Given the description of an element on the screen output the (x, y) to click on. 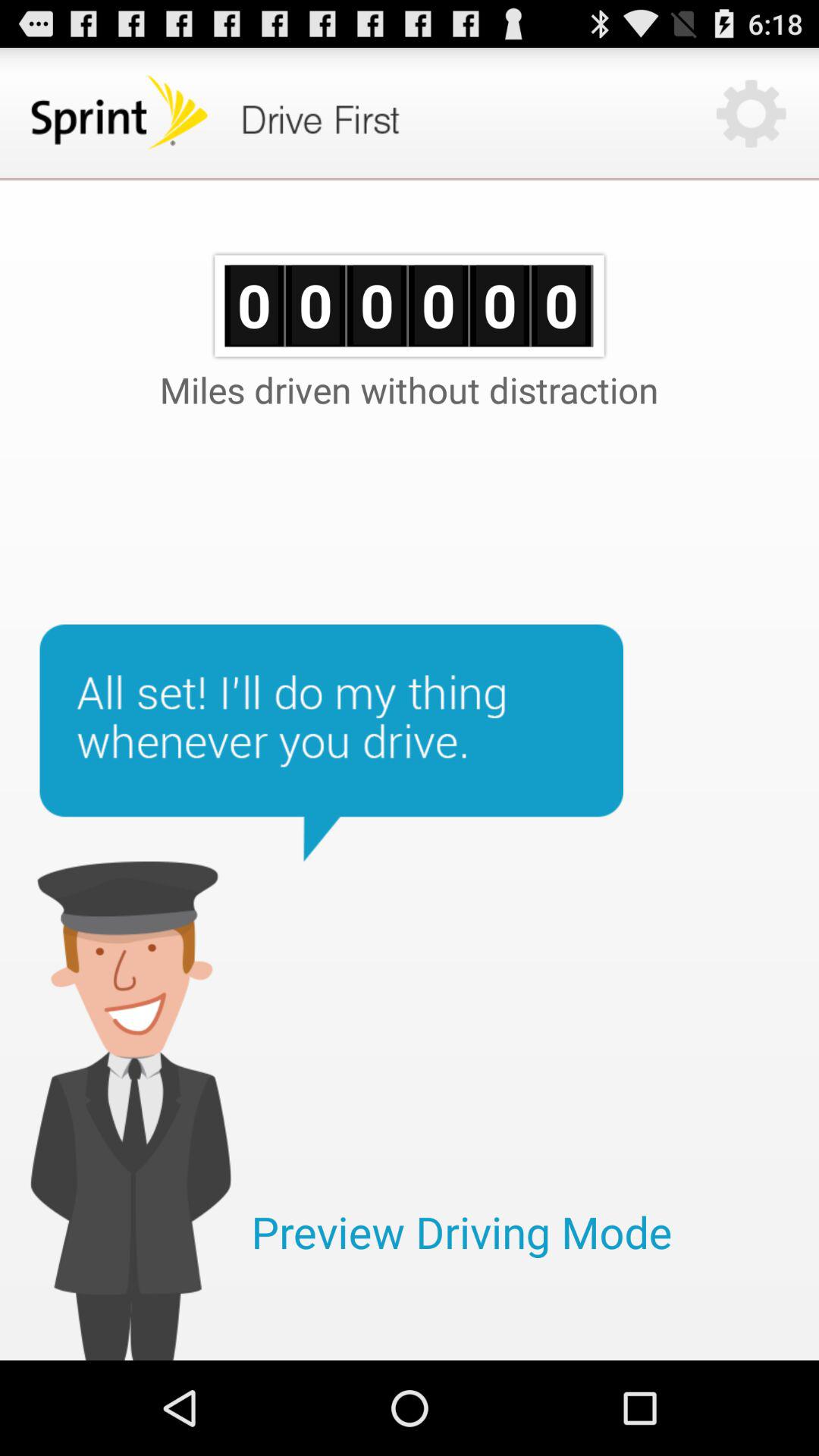
settings button menu (751, 113)
